Given the description of an element on the screen output the (x, y) to click on. 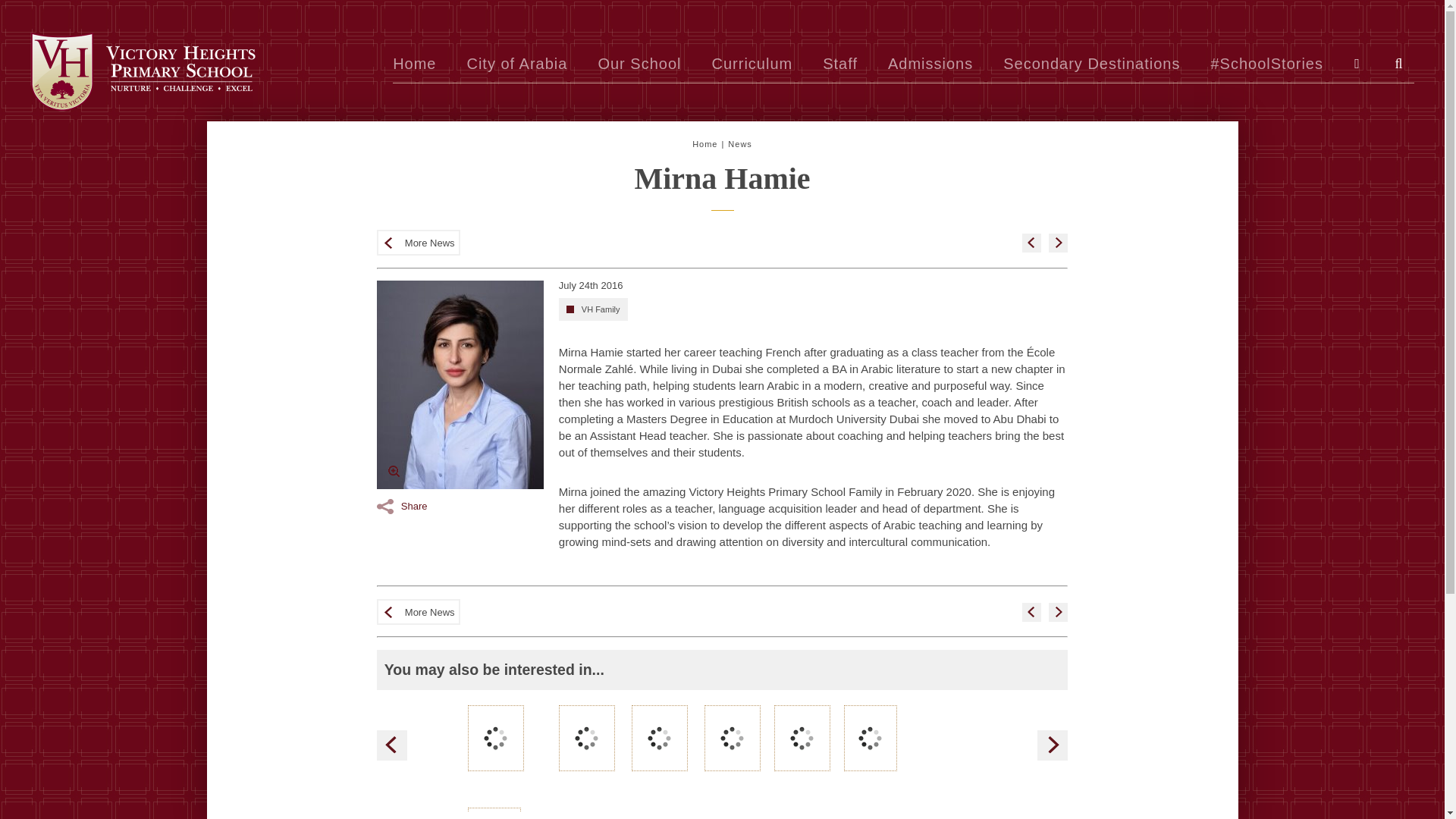
Home (414, 63)
City of Arabia (516, 63)
Curriculum (751, 63)
Victory Heights Primary School (143, 71)
Admissions (930, 63)
Staff (839, 63)
Our School (638, 63)
Victory Heights Primary School (143, 71)
